Given the description of an element on the screen output the (x, y) to click on. 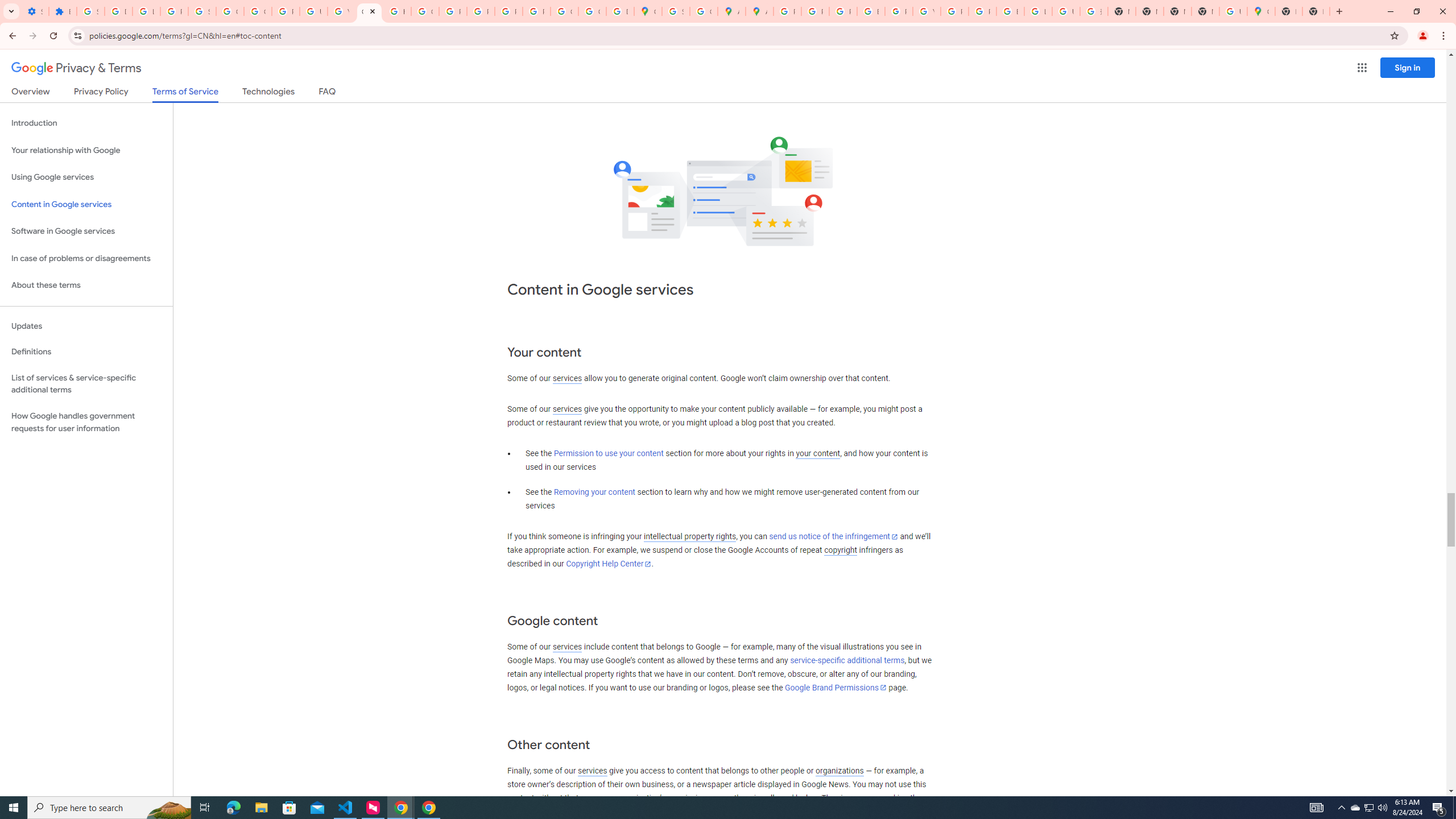
How Google handles government requests for user information (86, 422)
YouTube (341, 11)
Google Account Help (257, 11)
Your relationship with Google (86, 150)
Copyright Help Center (609, 564)
